Given the description of an element on the screen output the (x, y) to click on. 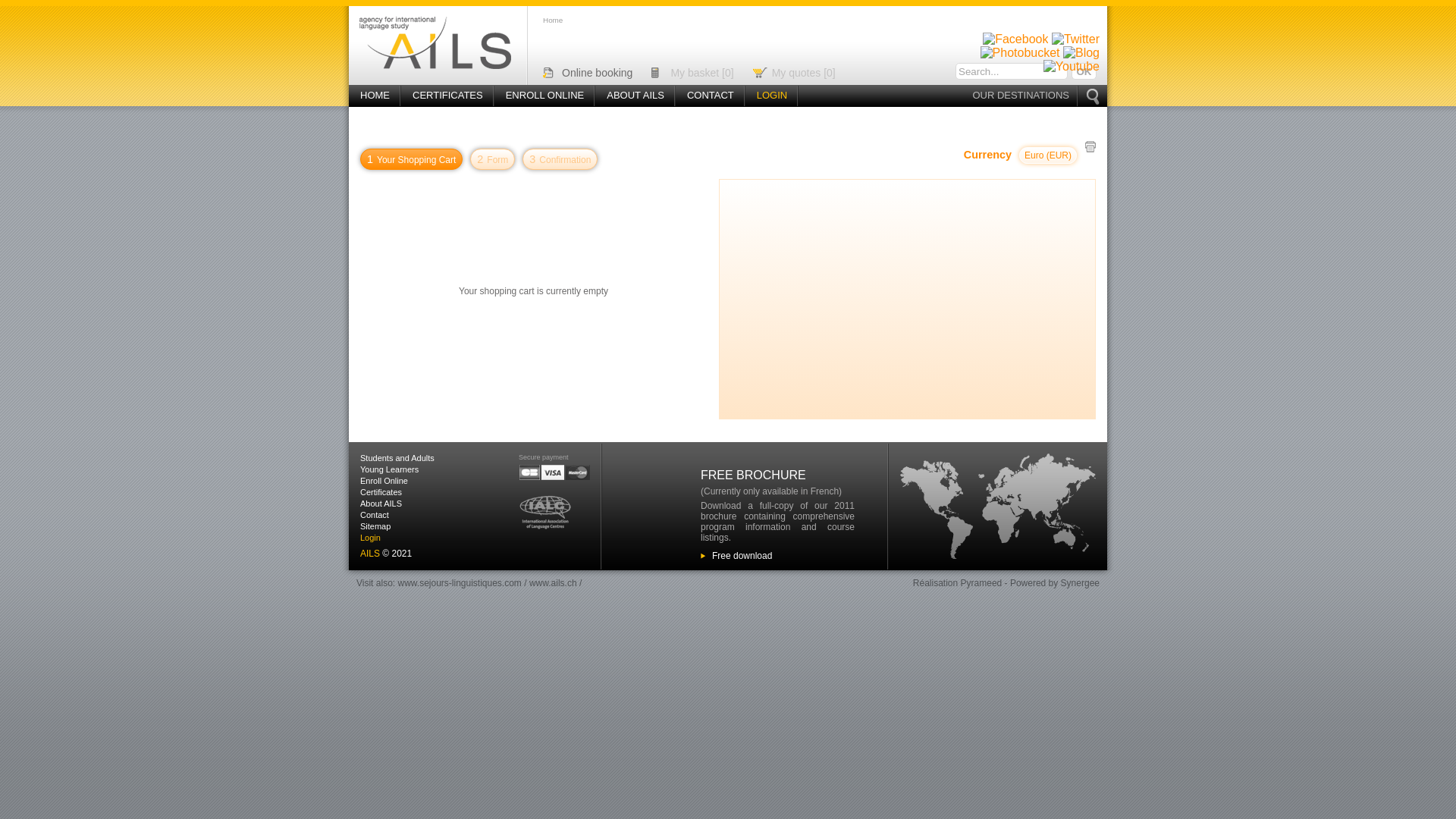
Search Element type: text (1066, 343)
About AILS Element type: text (380, 503)
Pyrameed Element type: text (981, 582)
Contact Element type: text (374, 514)
Enroll Online Element type: text (383, 480)
My basket [0] Element type: text (701, 72)
CERTIFICATES Element type: text (447, 95)
HOME Element type: text (374, 95)
Online booking Element type: text (596, 72)
LOGIN Element type: text (771, 95)
Login Element type: text (370, 537)
  Element type: text (1089, 146)
www.sejours-linguistiques.com Element type: text (458, 582)
Ok Element type: text (1083, 70)
Free download Element type: text (741, 555)
Home Element type: text (552, 19)
www.ails.ch Element type: text (553, 582)
CONTACT Element type: text (710, 95)
ABOUT AILS Element type: text (635, 95)
Young Learners Element type: text (389, 468)
Certificates Element type: text (380, 491)
Students and Adults Element type: text (397, 457)
Sitemap Element type: text (375, 525)
My quotes [0] Element type: text (803, 72)
ENROLL ONLINE Element type: text (545, 95)
